Given the description of an element on the screen output the (x, y) to click on. 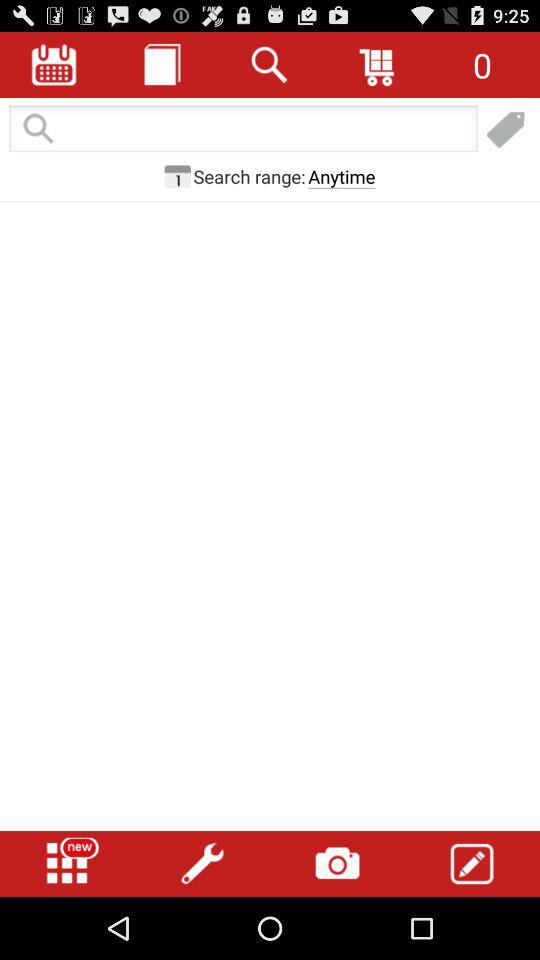
access camara options (337, 863)
